Given the description of an element on the screen output the (x, y) to click on. 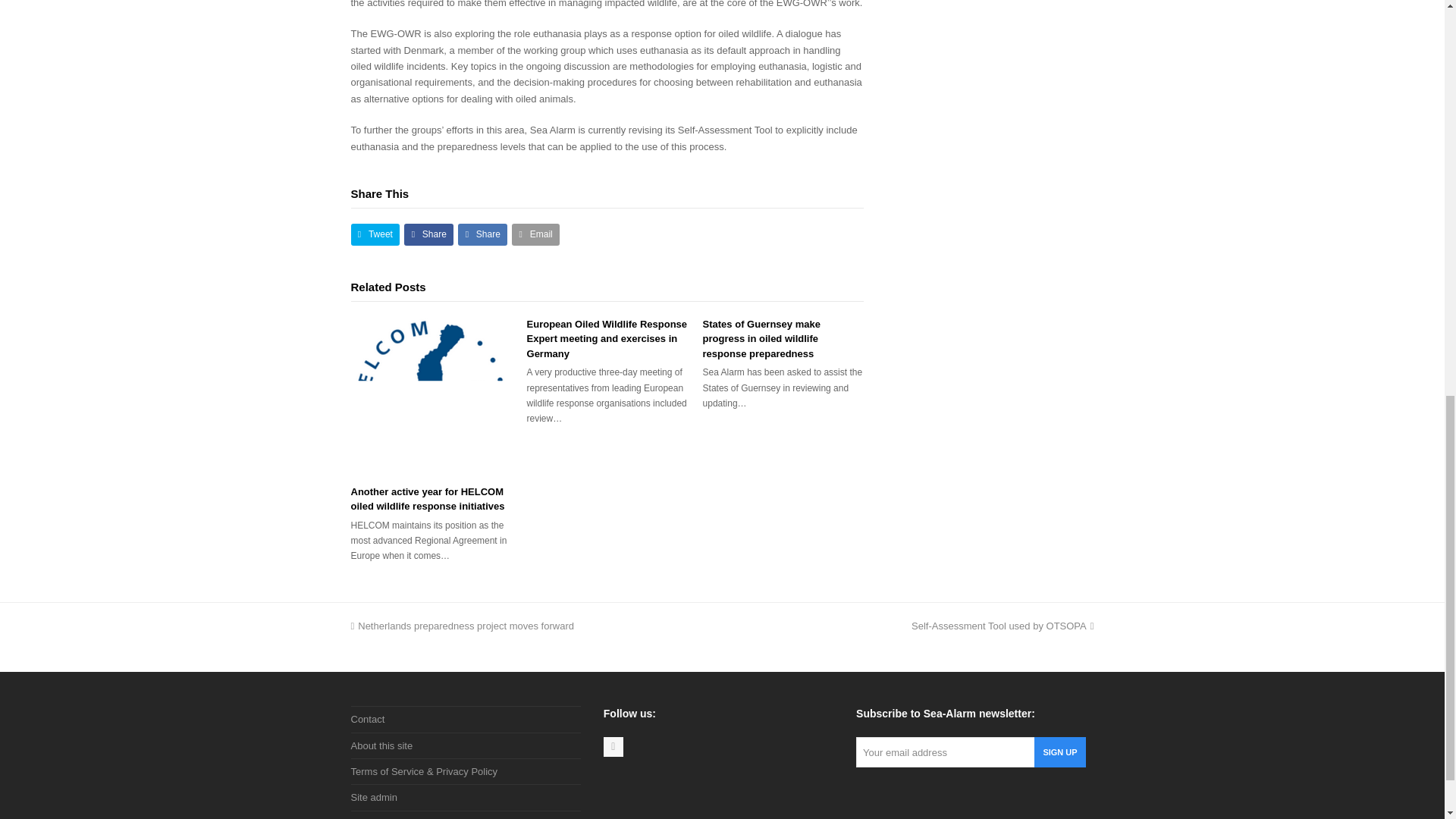
LinkedIn (613, 746)
Share (482, 234)
Tweet (374, 234)
Share (428, 234)
Email (535, 234)
